Given the description of an element on the screen output the (x, y) to click on. 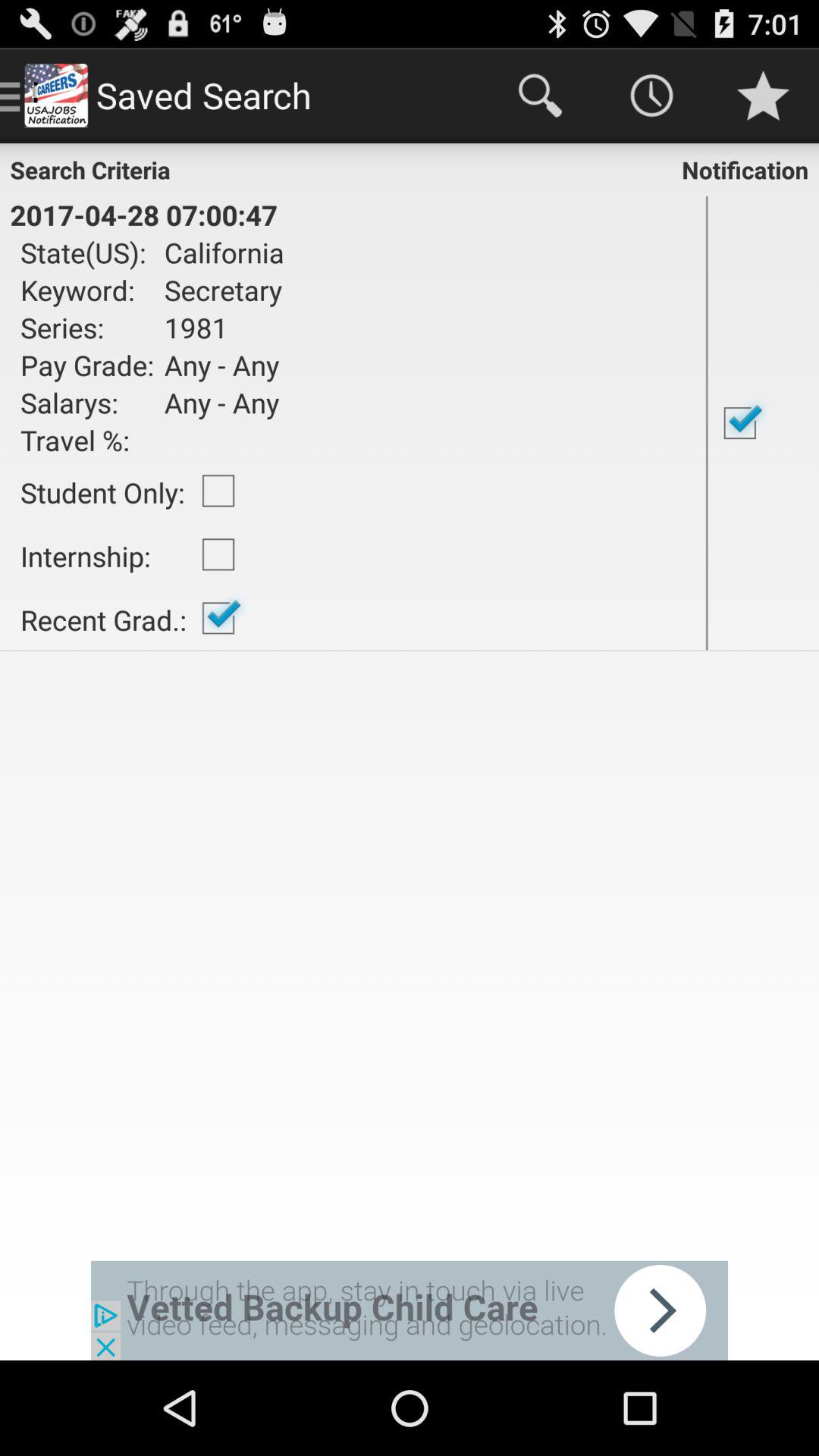
notification on button (763, 423)
